Given the description of an element on the screen output the (x, y) to click on. 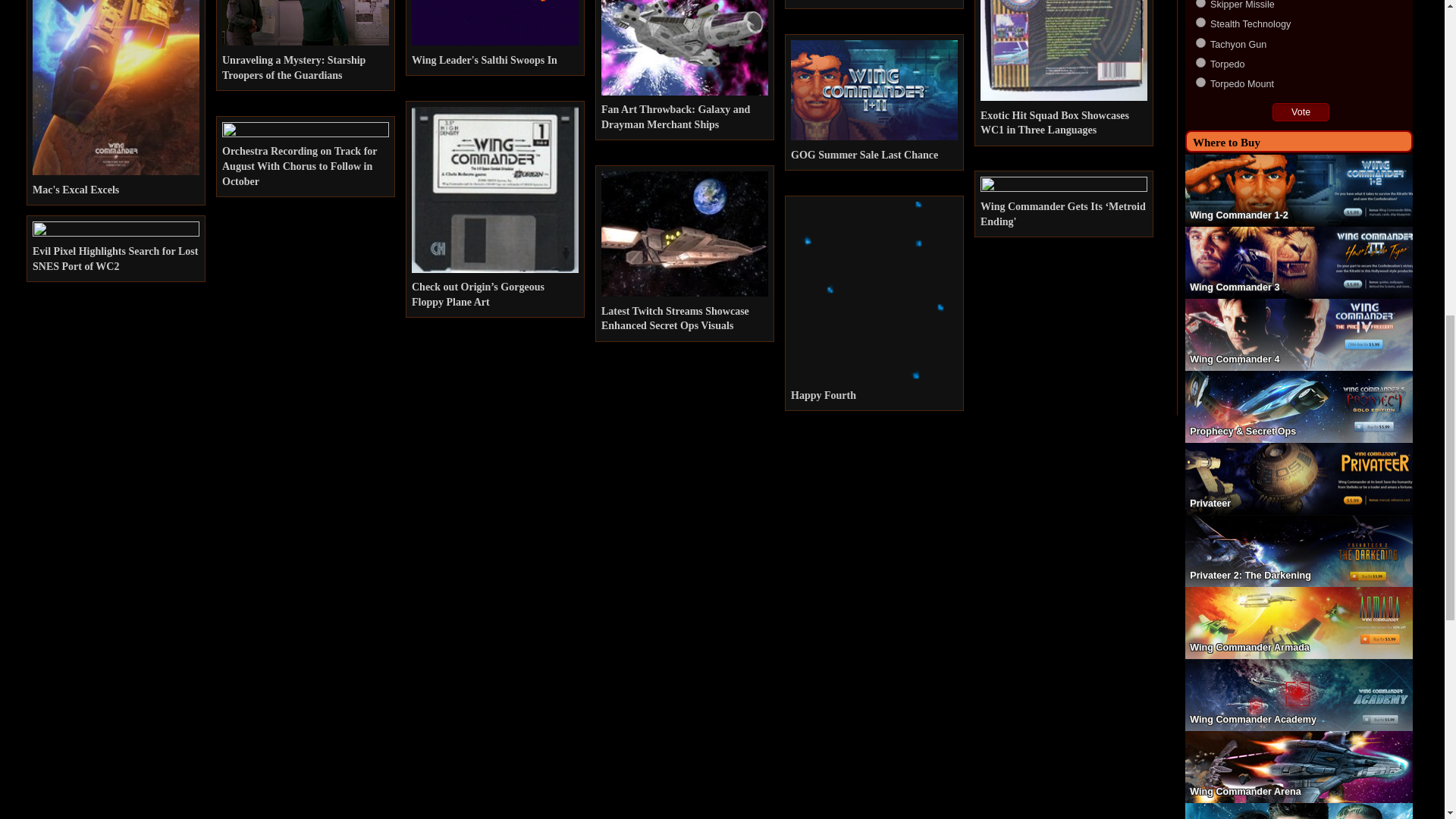
8 (1200, 22)
10 (1200, 62)
7 (1200, 3)
11 (1200, 81)
Vote (1300, 112)
9 (1200, 42)
